Given the description of an element on the screen output the (x, y) to click on. 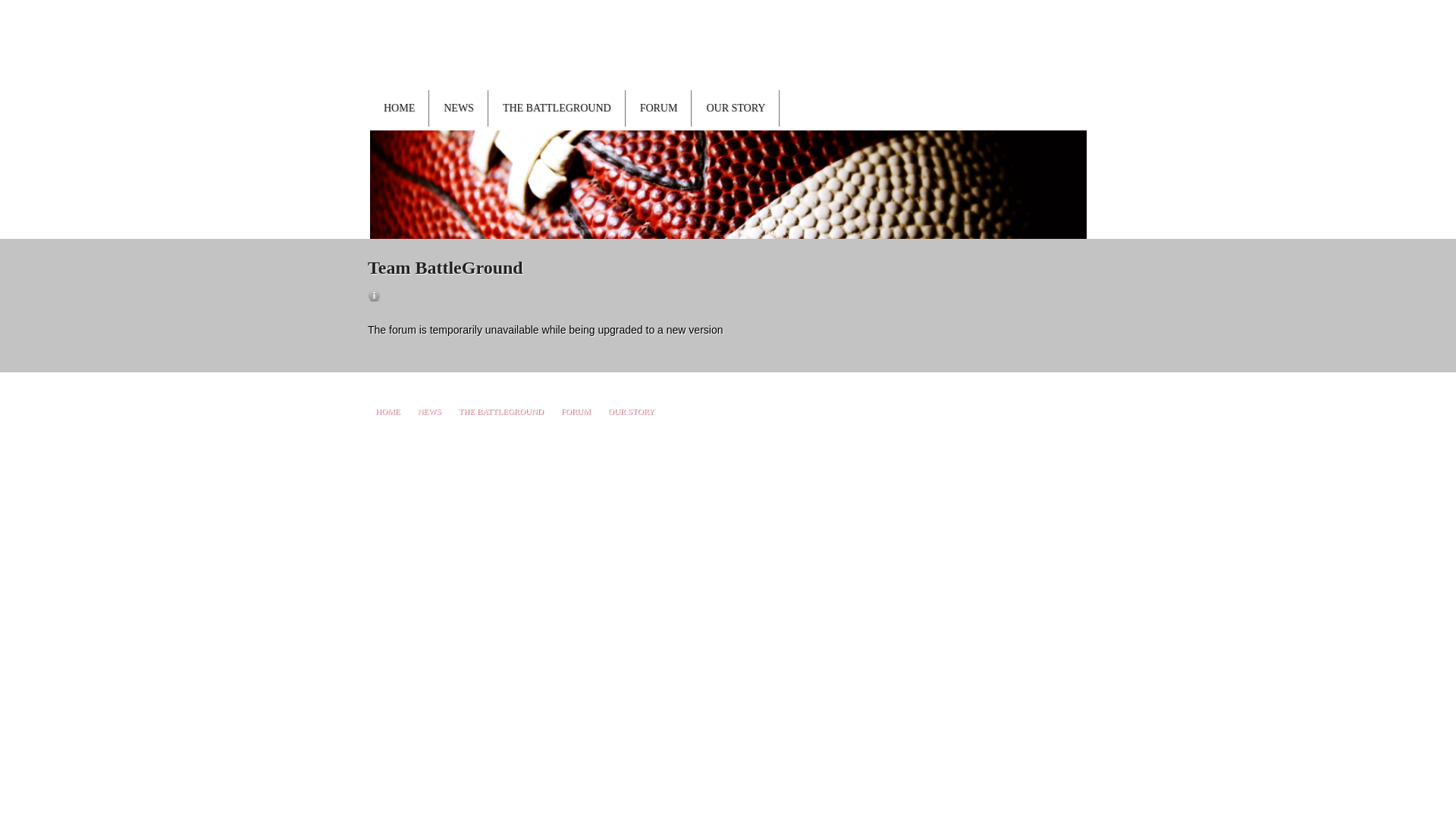
NEWS (458, 108)
Twitter (1097, 33)
OUR STORY (734, 108)
NEWS (429, 410)
Facebook (1104, 11)
SEOteric (1044, 430)
Share This (1089, 78)
HOME (388, 410)
OUR STORY (631, 410)
THE BATTLEGROUND (556, 108)
